Given the description of an element on the screen output the (x, y) to click on. 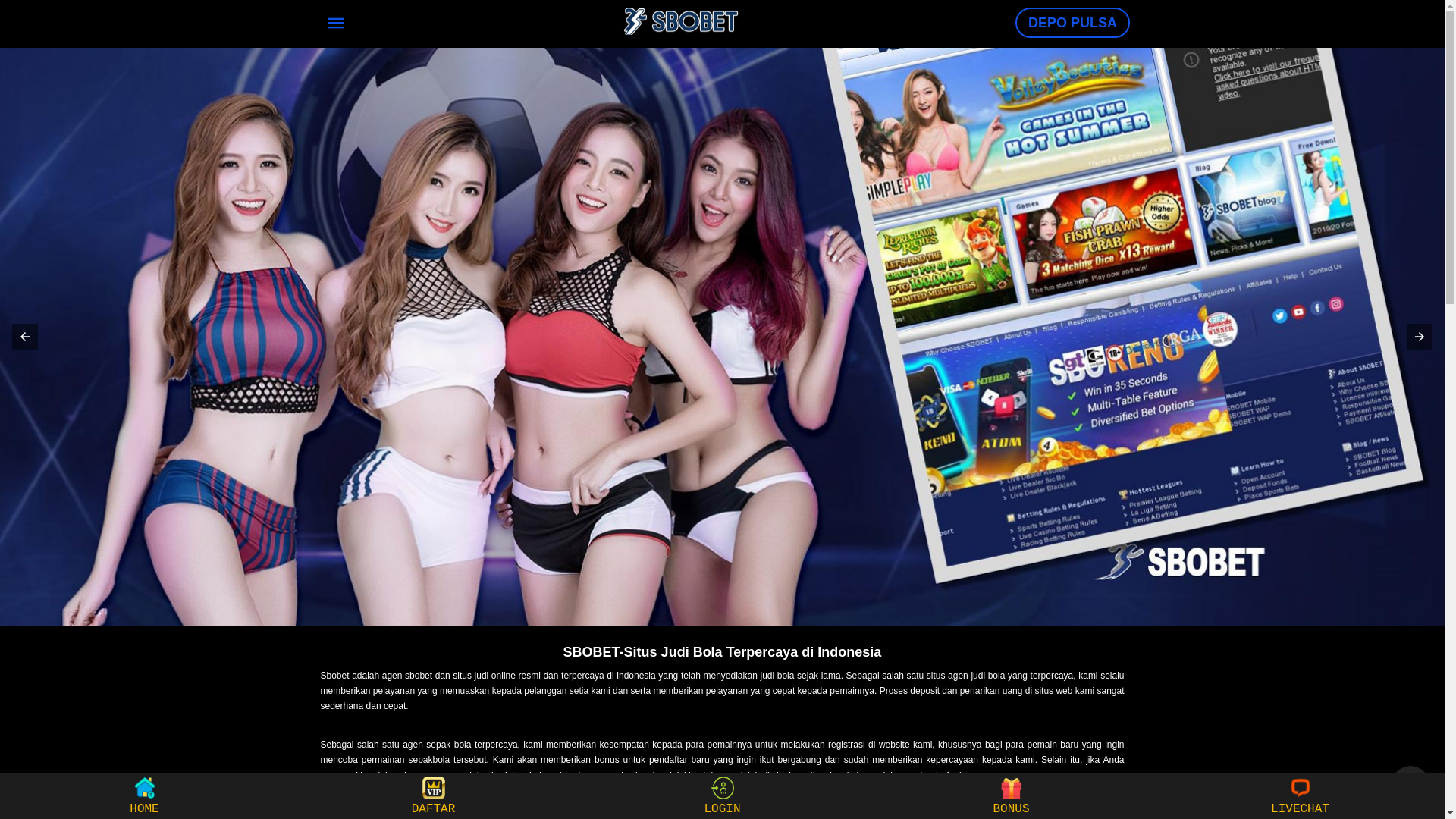
SBOBET Element type: hover (680, 20)
Previous item in carousel (2 of 3) Element type: hover (24, 336)
Next item in carousel (1 of 3) Element type: hover (1419, 336)
HOME Element type: text (144, 795)
DEPO PULSA Element type: text (1072, 22)
LOGIN Element type: text (721, 795)
DAFTAR Element type: text (432, 795)
back to top Element type: hover (1410, 784)
LIVECHAT Element type: text (1299, 795)
sbo bet Element type: hover (722, 336)
BONUS Element type: text (1010, 795)
